Given the description of an element on the screen output the (x, y) to click on. 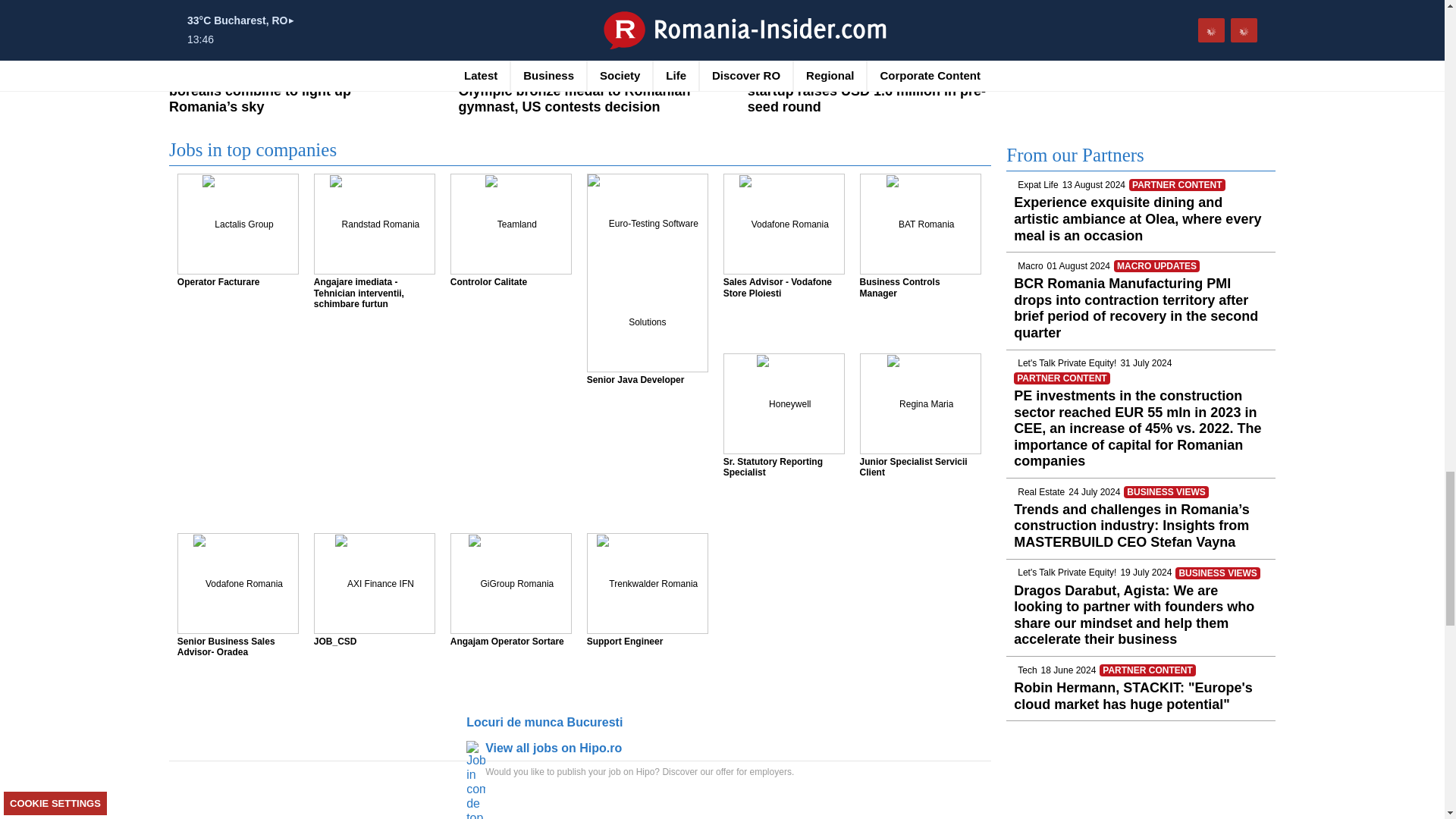
Senior Business Sales Advisor- Oradea (237, 583)
Support Engineer (646, 583)
Sales Advisor - Vodafone Store Ploiesti (783, 224)
